Given the description of an element on the screen output the (x, y) to click on. 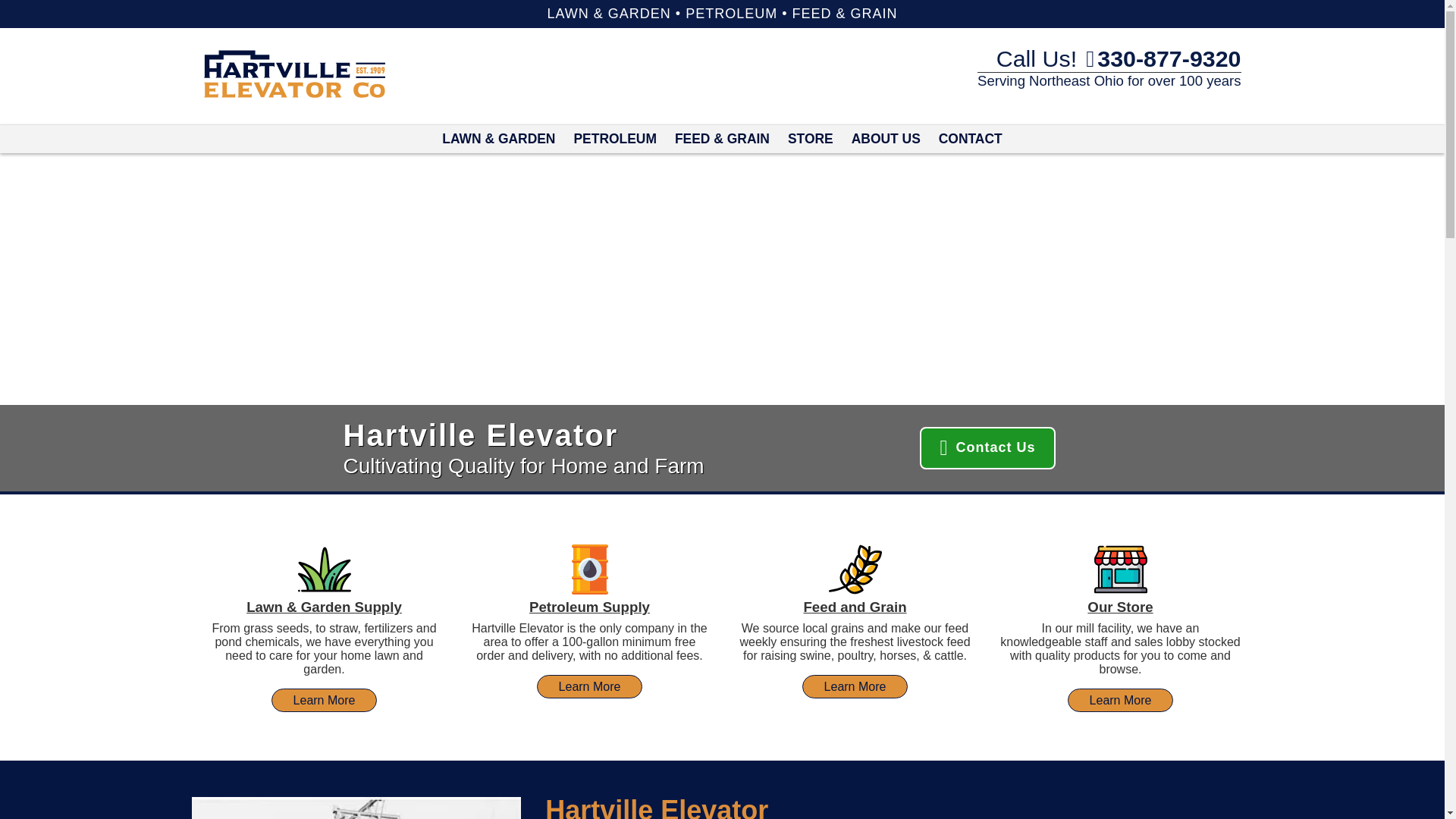
Our Store (1120, 606)
Learn More (323, 699)
PETROLEUM (614, 139)
Contact Us (987, 447)
330-877-9320 (1163, 58)
CONTACT (970, 139)
Learn More (855, 686)
Learn More (590, 686)
ABOUT US (886, 139)
Learn More (1120, 699)
Petroleum Supply (589, 606)
Feed and Grain (854, 606)
STORE (810, 139)
